Given the description of an element on the screen output the (x, y) to click on. 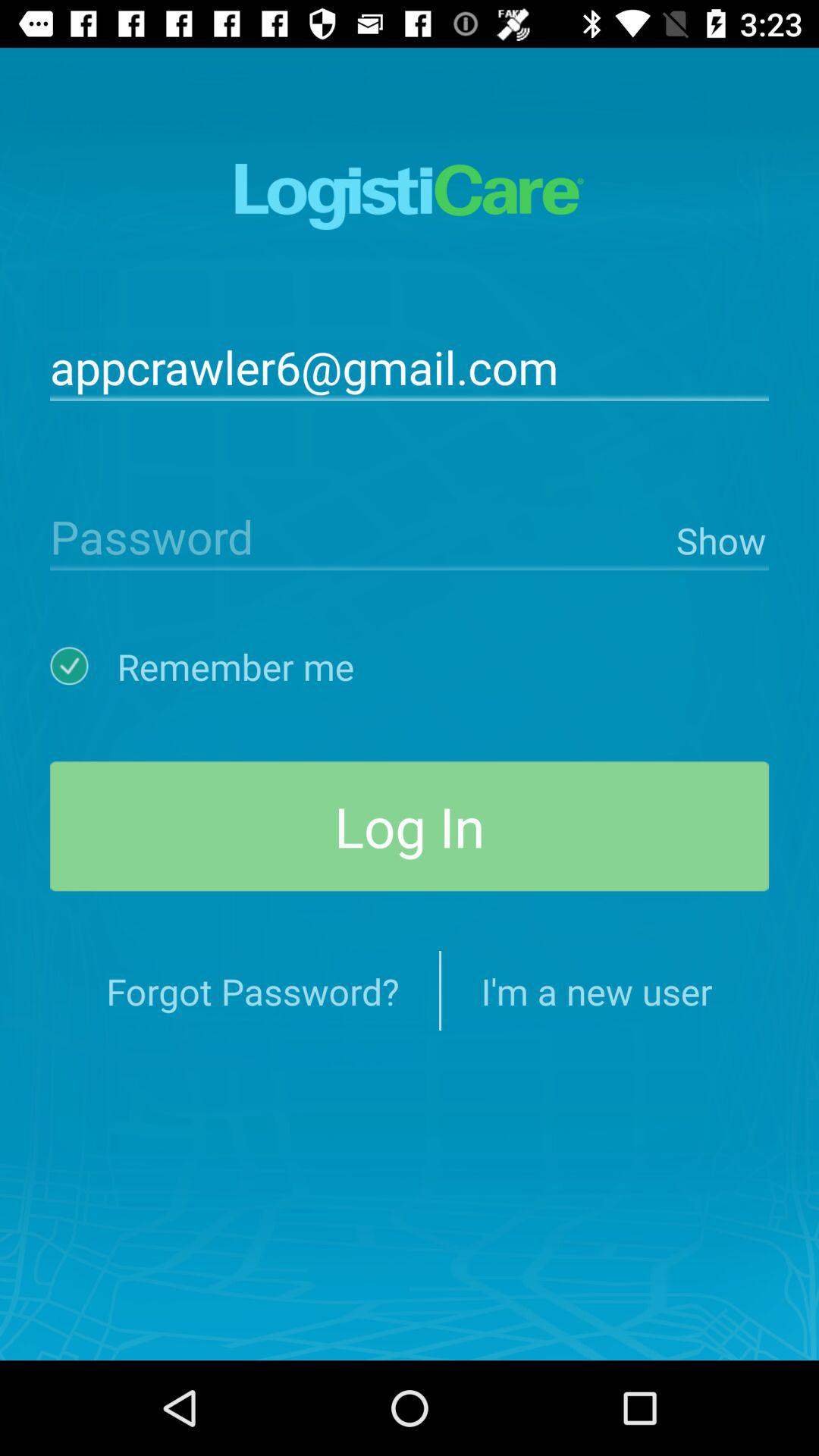
open show (718, 536)
